Given the description of an element on the screen output the (x, y) to click on. 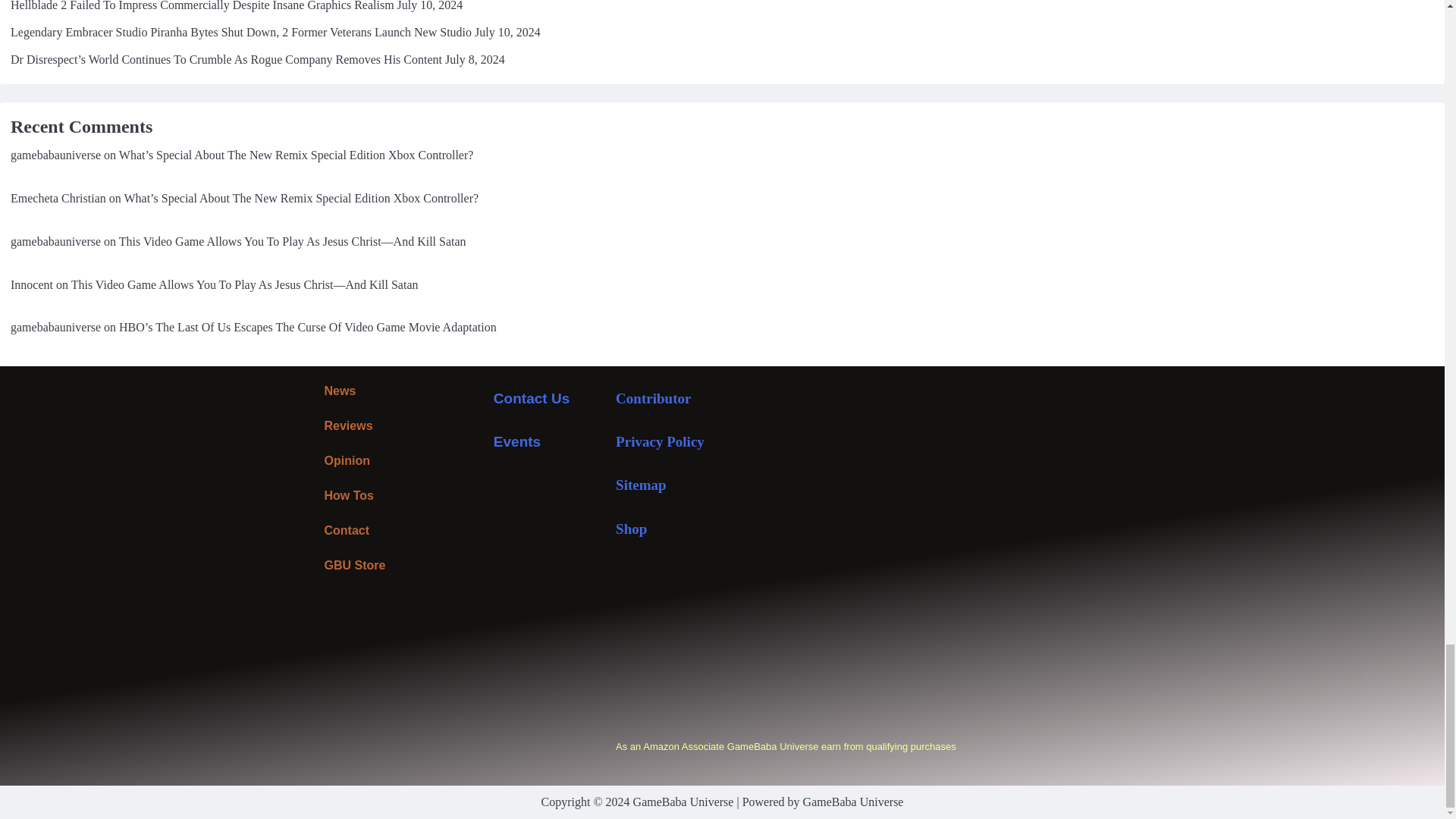
gamebabauniverse (55, 327)
gamebabauniverse (55, 241)
Emecheta Christian (58, 197)
gamebabauniverse (55, 154)
